Given the description of an element on the screen output the (x, y) to click on. 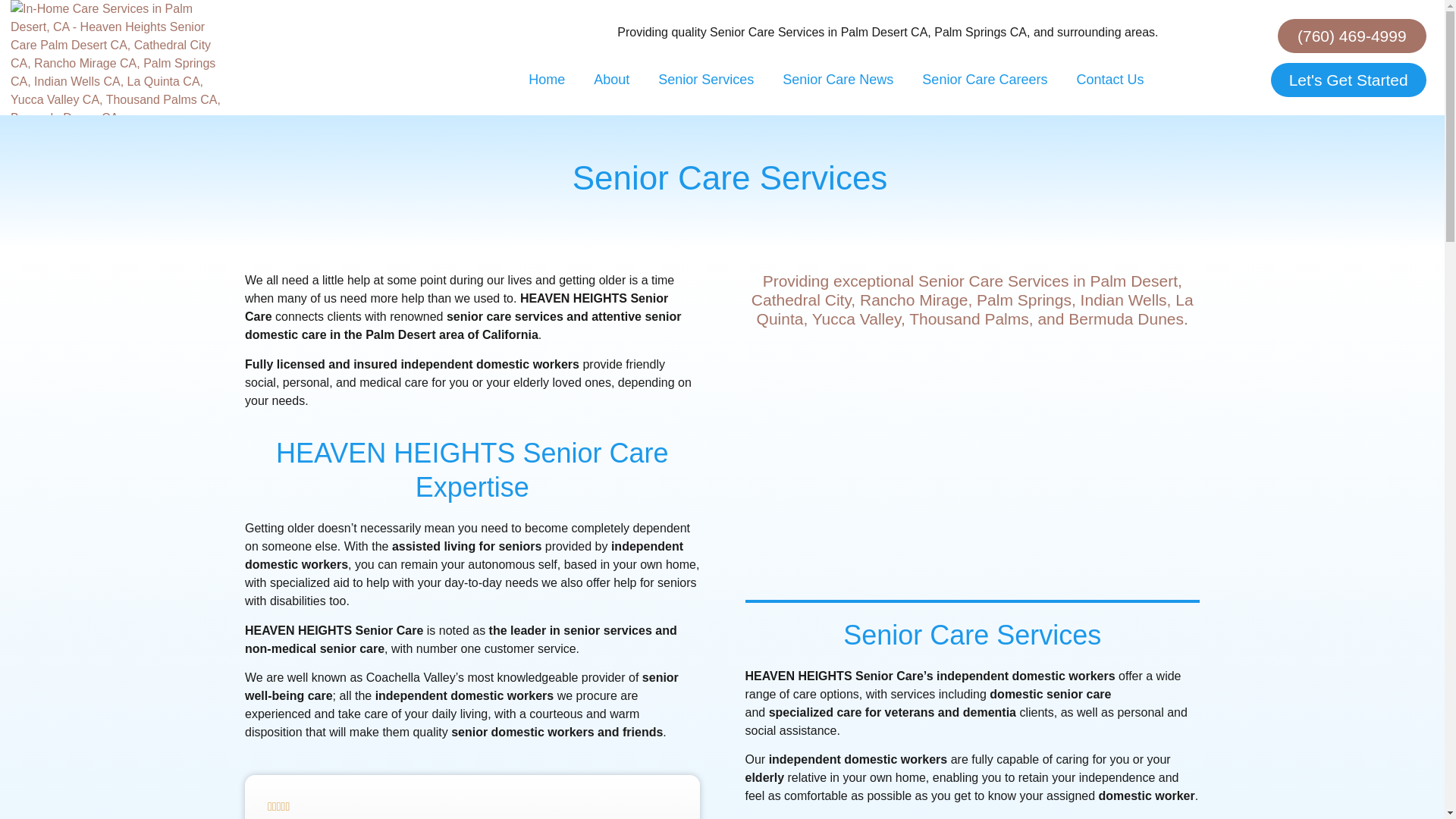
Senior Care News (837, 79)
About (611, 79)
Senior Services (705, 79)
Senior Care Careers (984, 79)
Home (546, 79)
Let's Get Started (1348, 80)
Contact Us (1109, 79)
